Given the description of an element on the screen output the (x, y) to click on. 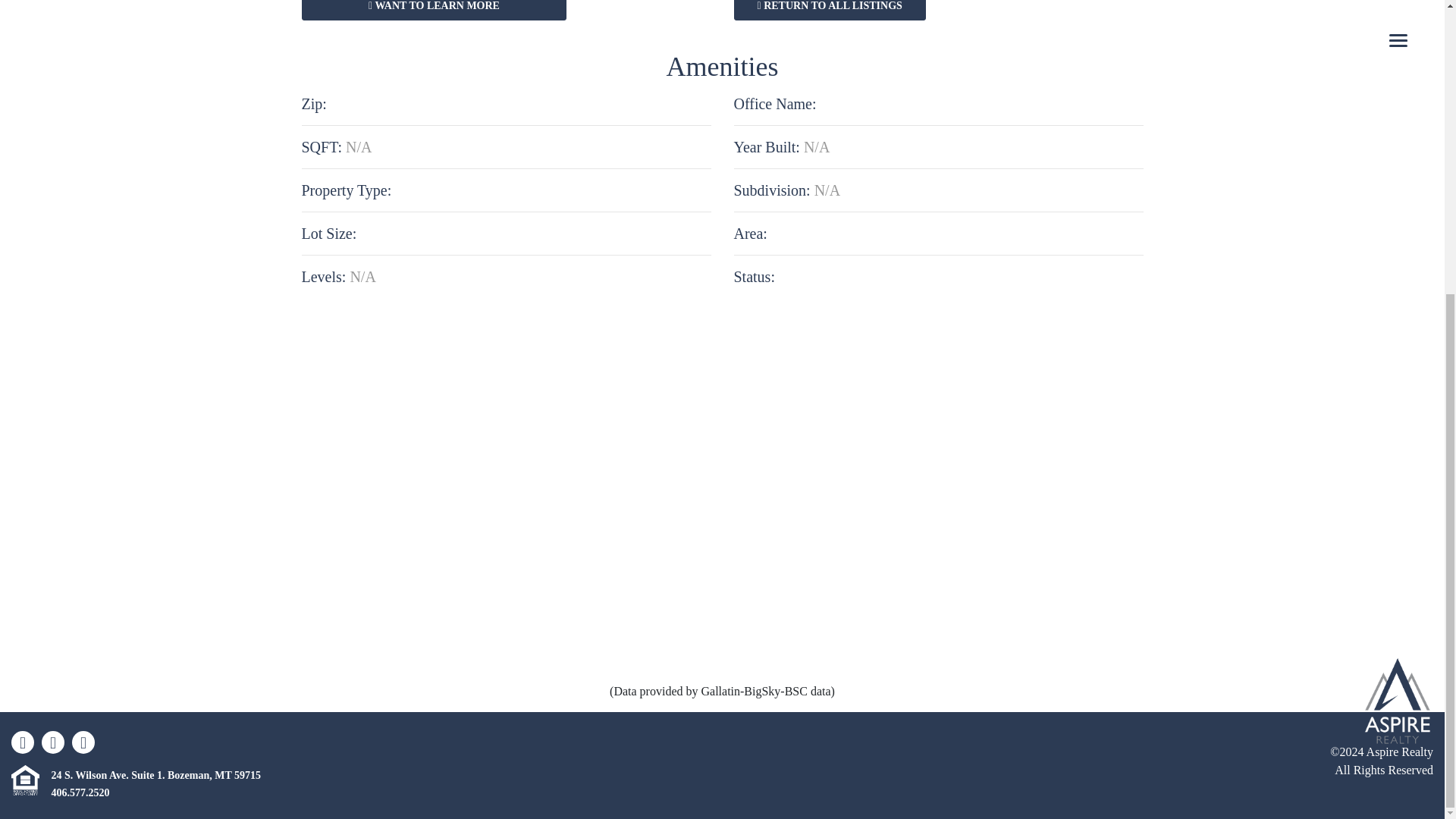
WANT TO LEARN MORE (434, 10)
RETURN TO ALL LISTINGS (829, 10)
